Given the description of an element on the screen output the (x, y) to click on. 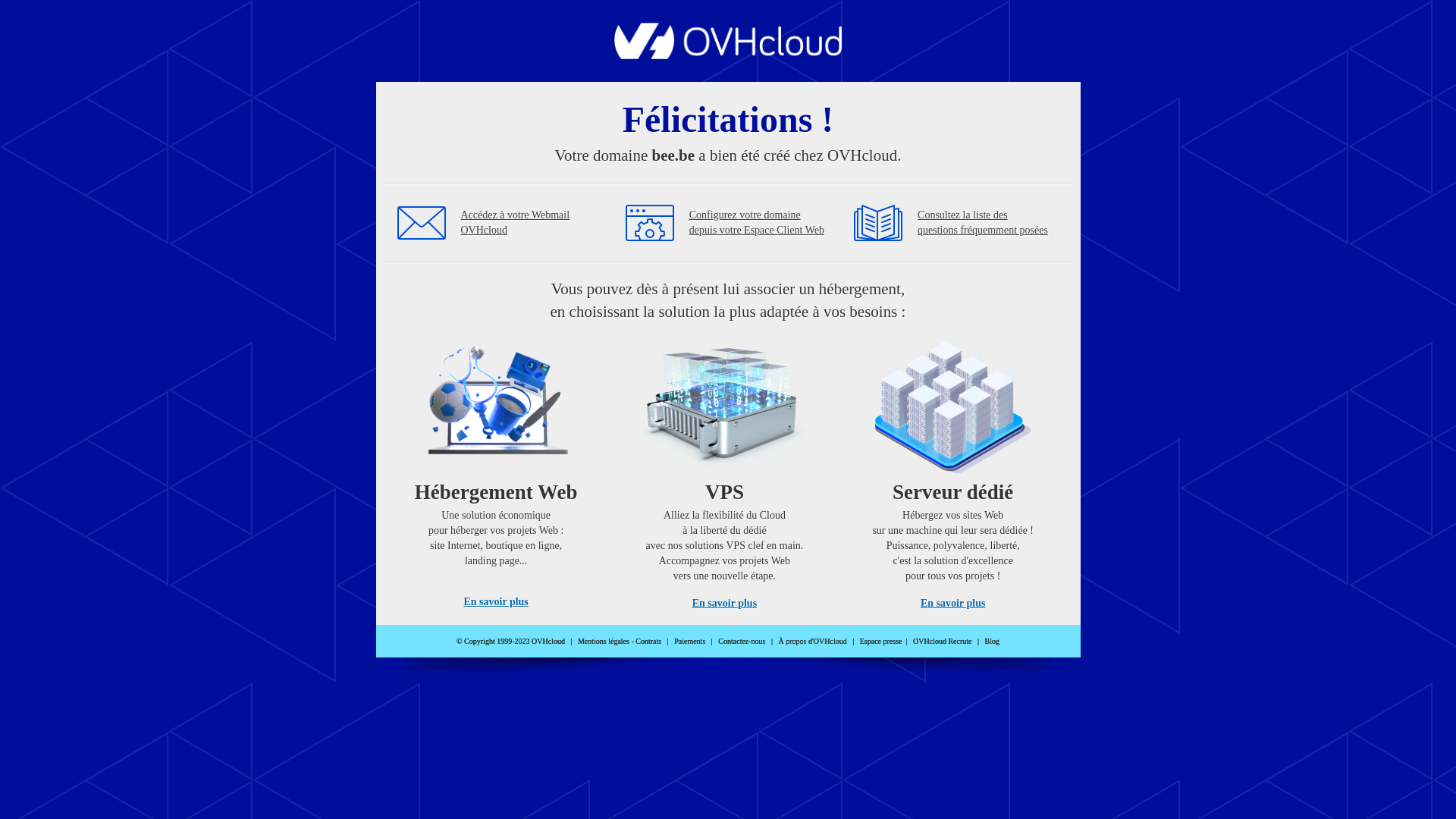
Blog Element type: text (992, 641)
VPS Element type: hover (724, 469)
OVHcloud Element type: hover (727, 54)
Configurez votre domaine
depuis votre Espace Client Web Element type: text (756, 222)
En savoir plus Element type: text (495, 601)
En savoir plus Element type: text (724, 602)
Espace presse Element type: text (880, 641)
OVHcloud Recrute Element type: text (942, 641)
Paiements Element type: text (689, 641)
En savoir plus Element type: text (952, 602)
Contactez-nous Element type: text (741, 641)
